Given the description of an element on the screen output the (x, y) to click on. 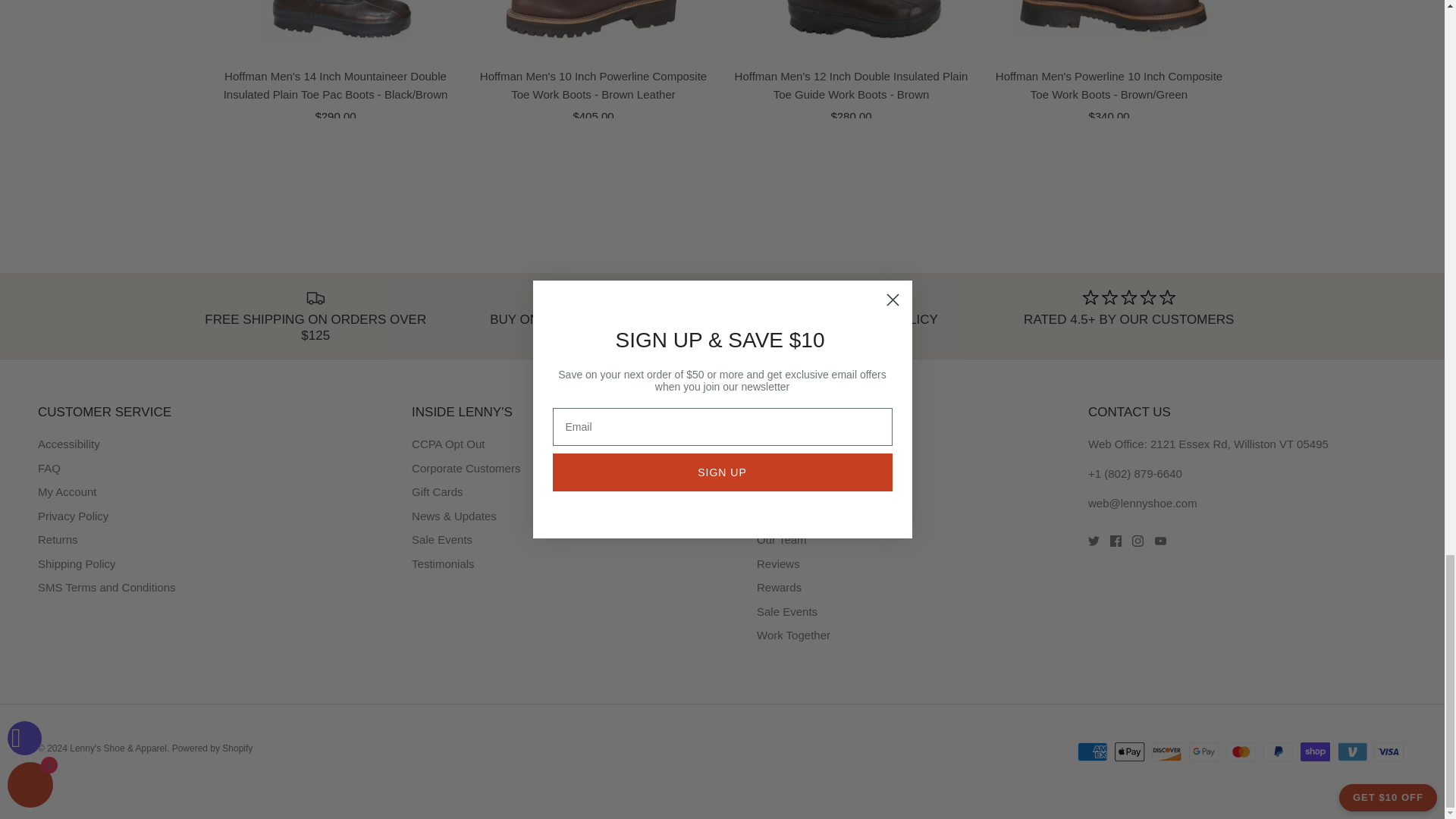
Facebook (1115, 541)
Twitter (1093, 541)
